Given the description of an element on the screen output the (x, y) to click on. 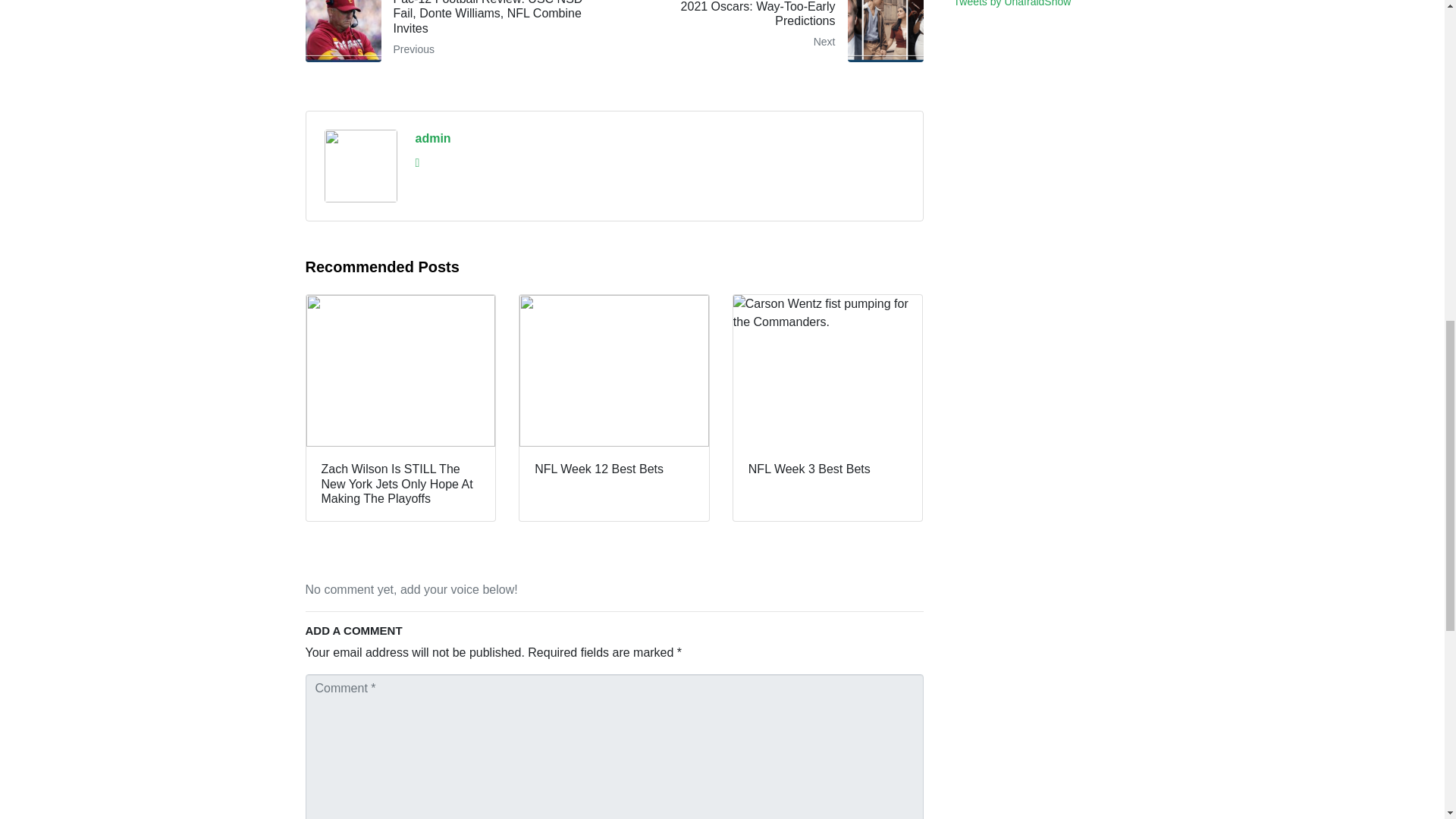
2021 Oscars: Way-Too-Early Predictions (774, 31)
